Given the description of an element on the screen output the (x, y) to click on. 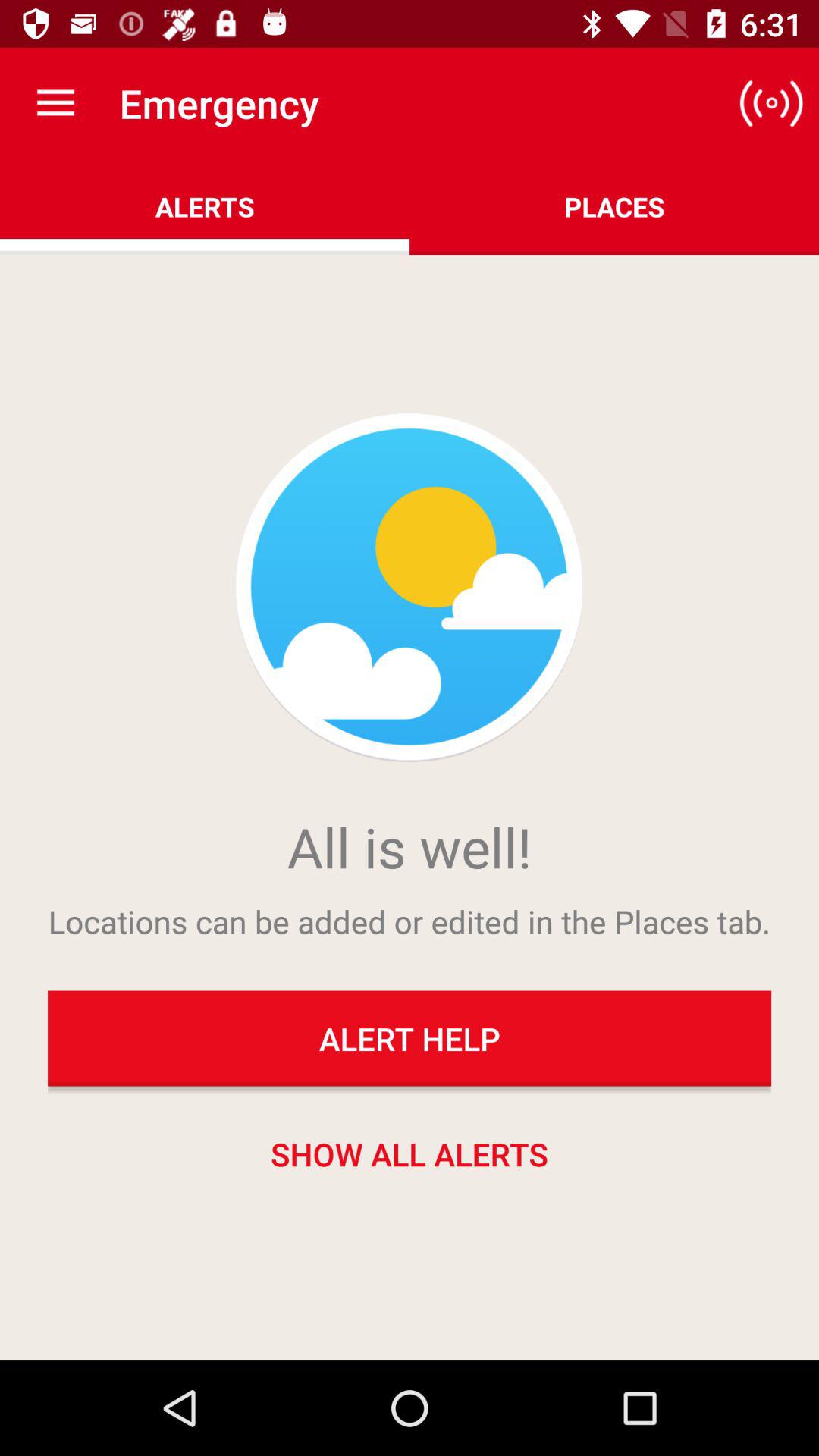
scroll to show all alerts icon (409, 1153)
